Given the description of an element on the screen output the (x, y) to click on. 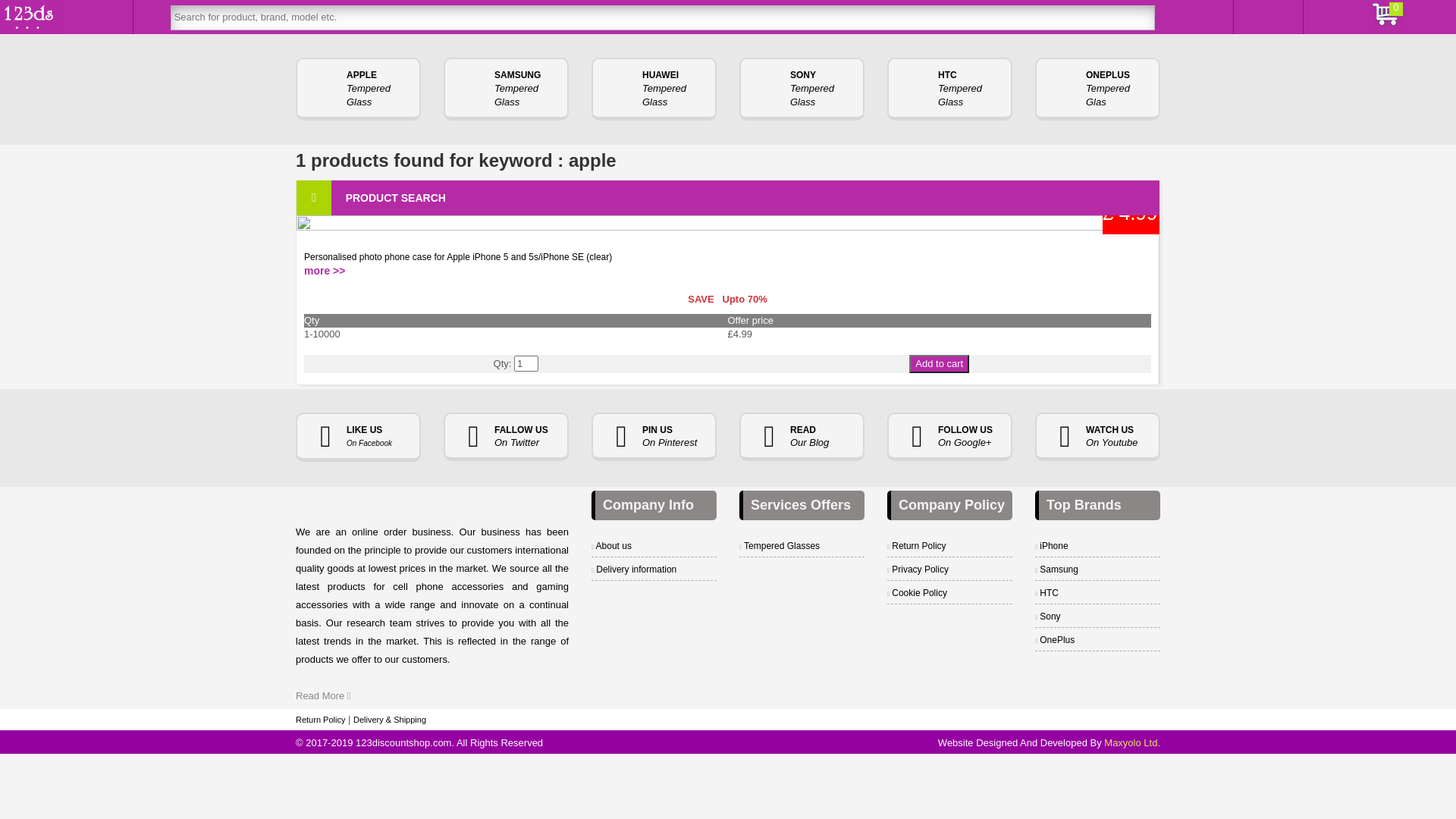
FOLLOW US
On Google+ Element type: text (949, 436)
Sony Element type: text (1047, 616)
Samsung Element type: text (1056, 569)
  Element type: text (1176, 16)
LIKE US
On Facebook Element type: text (357, 437)
ONEPLUS
Tempered Glas Element type: text (1097, 88)
About us Element type: text (611, 545)
APPLE
Tempered Glass Element type: text (357, 88)
SONY
Tempered Glass Element type: text (801, 88)
Maxyolo Ltd. Element type: text (1132, 742)
Add to cart Element type: text (939, 363)
Return Policy Element type: text (320, 719)
Cookie Policy Element type: text (917, 592)
WATCH US
On Youtube Element type: text (1097, 436)
Read More Element type: text (323, 695)
Delivery information Element type: text (633, 569)
OnePlus Element type: text (1054, 639)
HTC Element type: text (1046, 592)
iPhone Element type: text (1051, 545)
Delivery & Shipping Element type: text (389, 719)
Tempered Glasses Element type: text (779, 545)
SAMSUNG
Tempered Glass Element type: text (505, 88)
HTC
Tempered Glass Element type: text (949, 88)
Privacy Policy Element type: text (917, 569)
FALLOW US
On Twitter Element type: text (505, 436)
HUAWEI
Tempered Glass Element type: text (653, 88)
Return Policy Element type: text (916, 545)
READ
Our Blog Element type: text (801, 436)
0 Element type: text (97, 17)
PIN US
On Pinterest Element type: text (653, 436)
